Given the description of an element on the screen output the (x, y) to click on. 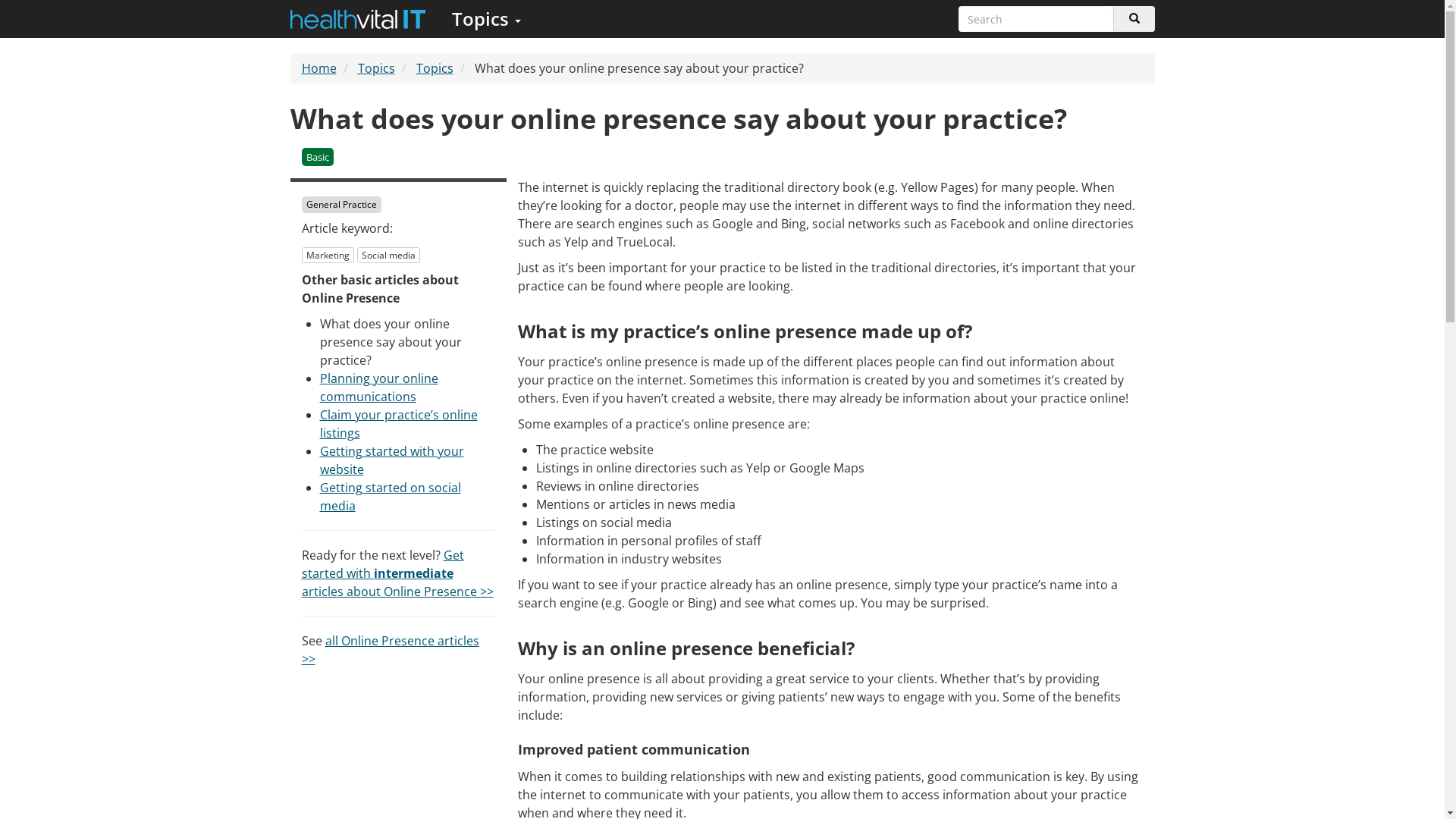
Skip to main content Element type: text (0, 0)
Marketing Element type: text (327, 254)
Topics Element type: text (485, 18)
Home Element type: text (318, 67)
Search Element type: text (1133, 18)
Home Element type: hover (357, 18)
Getting started on social media Element type: text (390, 496)
Social media Element type: text (387, 254)
all Online Presence articles >> Element type: text (390, 649)
Topics Element type: text (433, 67)
Getting started with your website Element type: text (392, 459)
Topics Element type: text (376, 67)
Planning your online communications Element type: text (379, 387)
Basic Element type: text (317, 155)
